Given the description of an element on the screen output the (x, y) to click on. 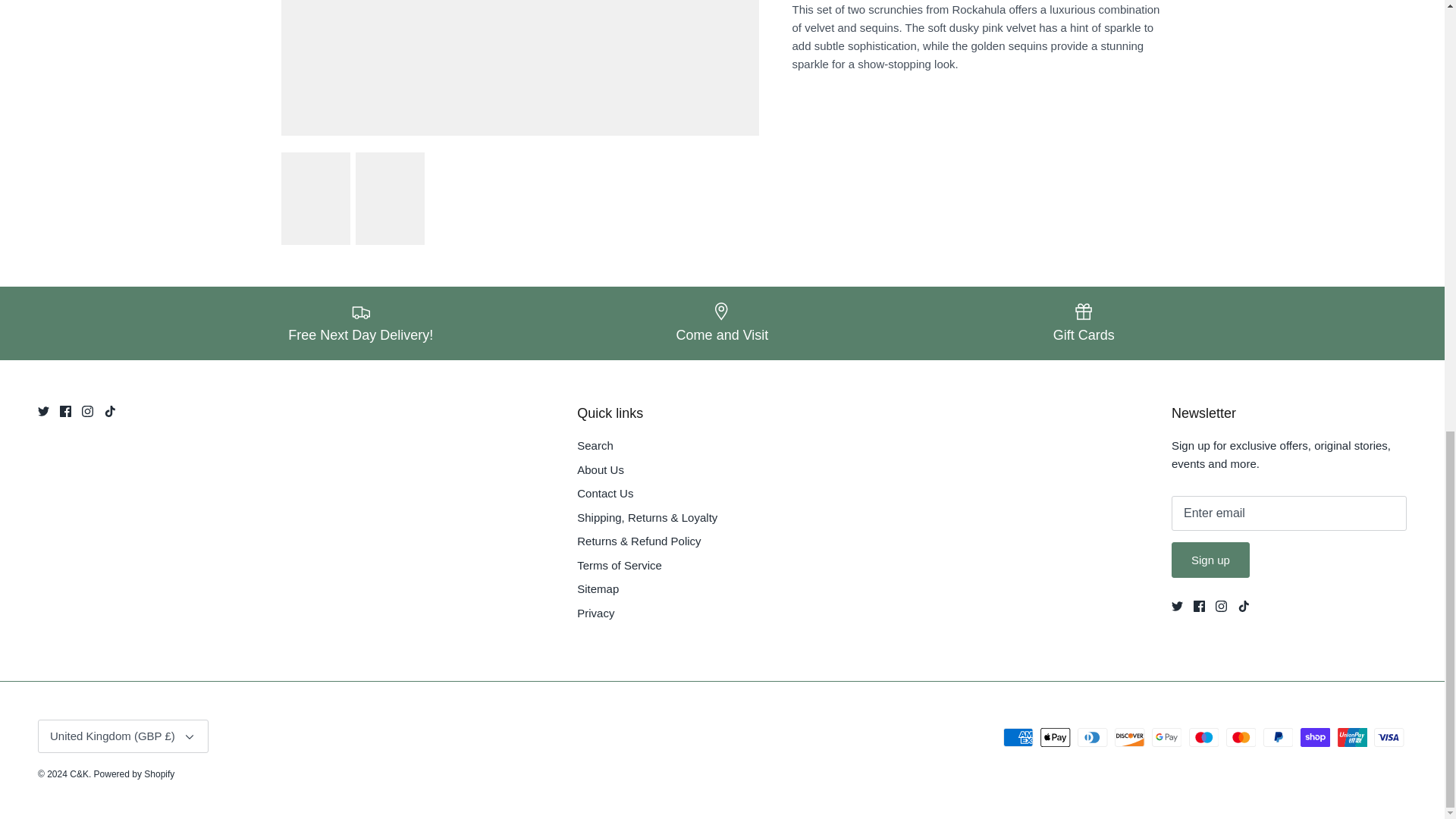
Twitter (43, 410)
Facebook (1199, 605)
Instagram (87, 410)
Instagram (1221, 605)
Twitter (1177, 605)
Facebook (65, 410)
